Given the description of an element on the screen output the (x, y) to click on. 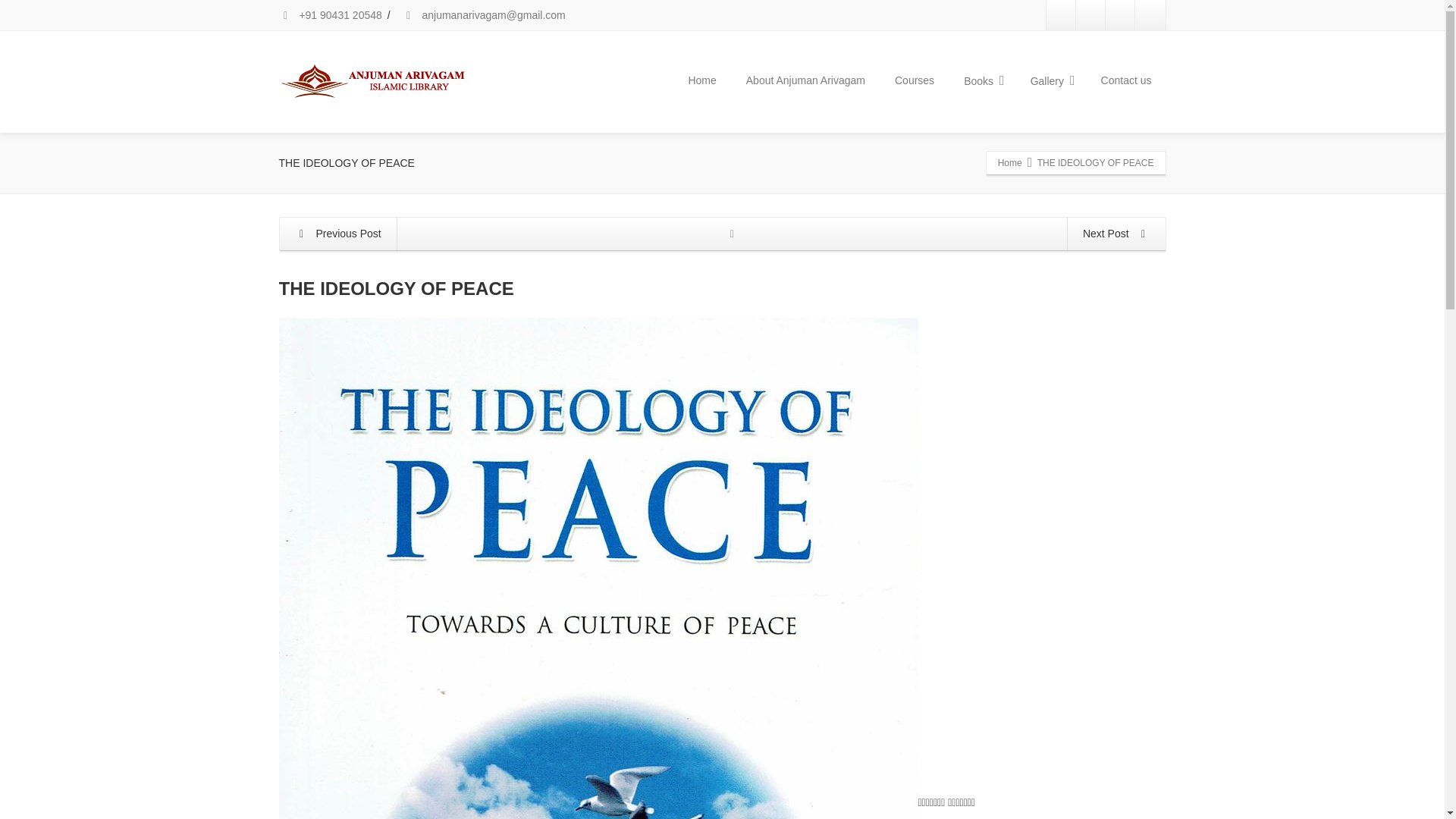
Go to the blog page (732, 233)
Books (981, 81)
Google Plus (1149, 15)
Home (701, 80)
Twitter (1120, 15)
Gallery (1051, 81)
Youtube (1090, 15)
About Anjuman Arivagam (805, 80)
Facebook (1061, 15)
Courses (914, 80)
